Given the description of an element on the screen output the (x, y) to click on. 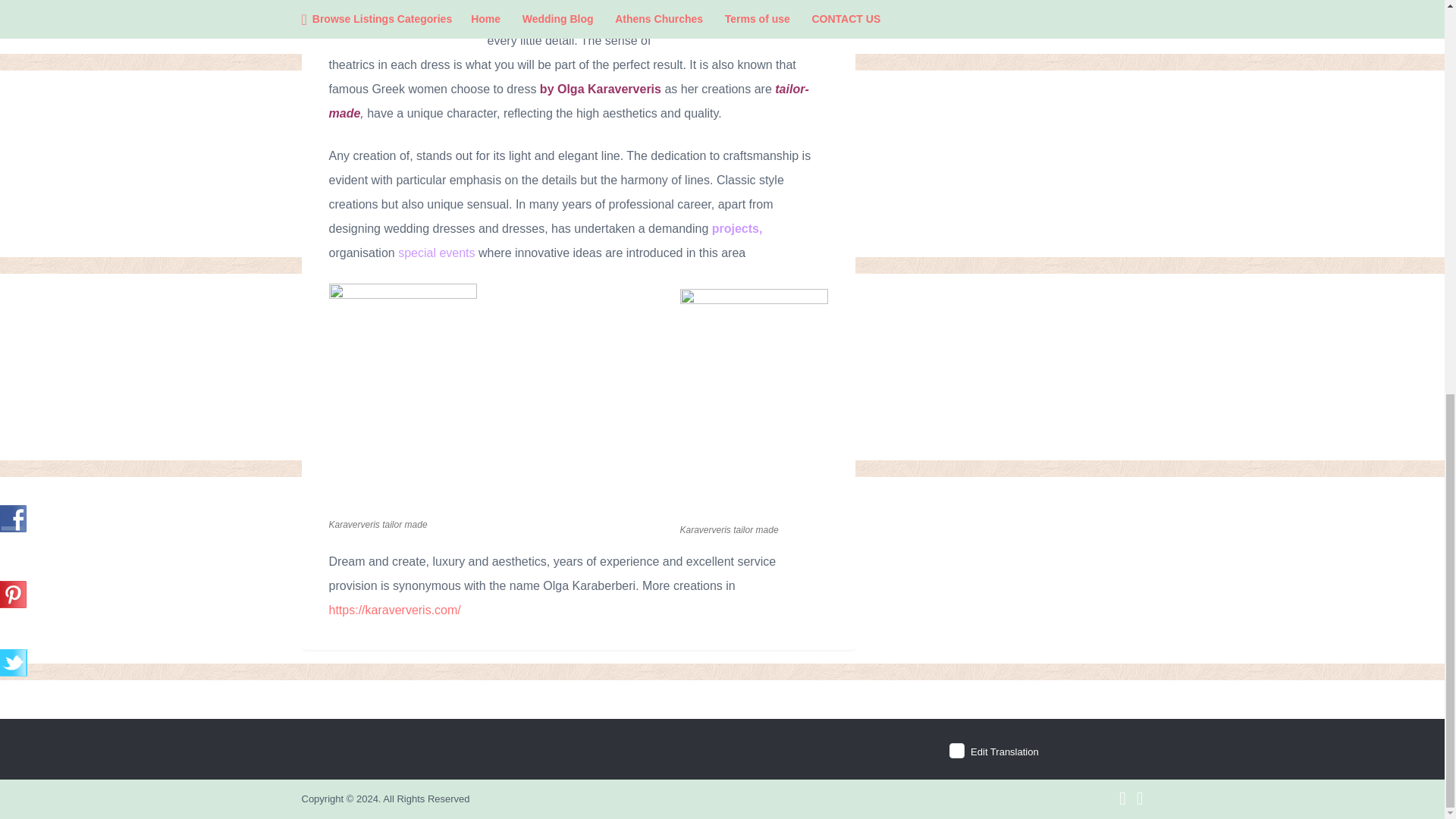
1 (956, 750)
